Given the description of an element on the screen output the (x, y) to click on. 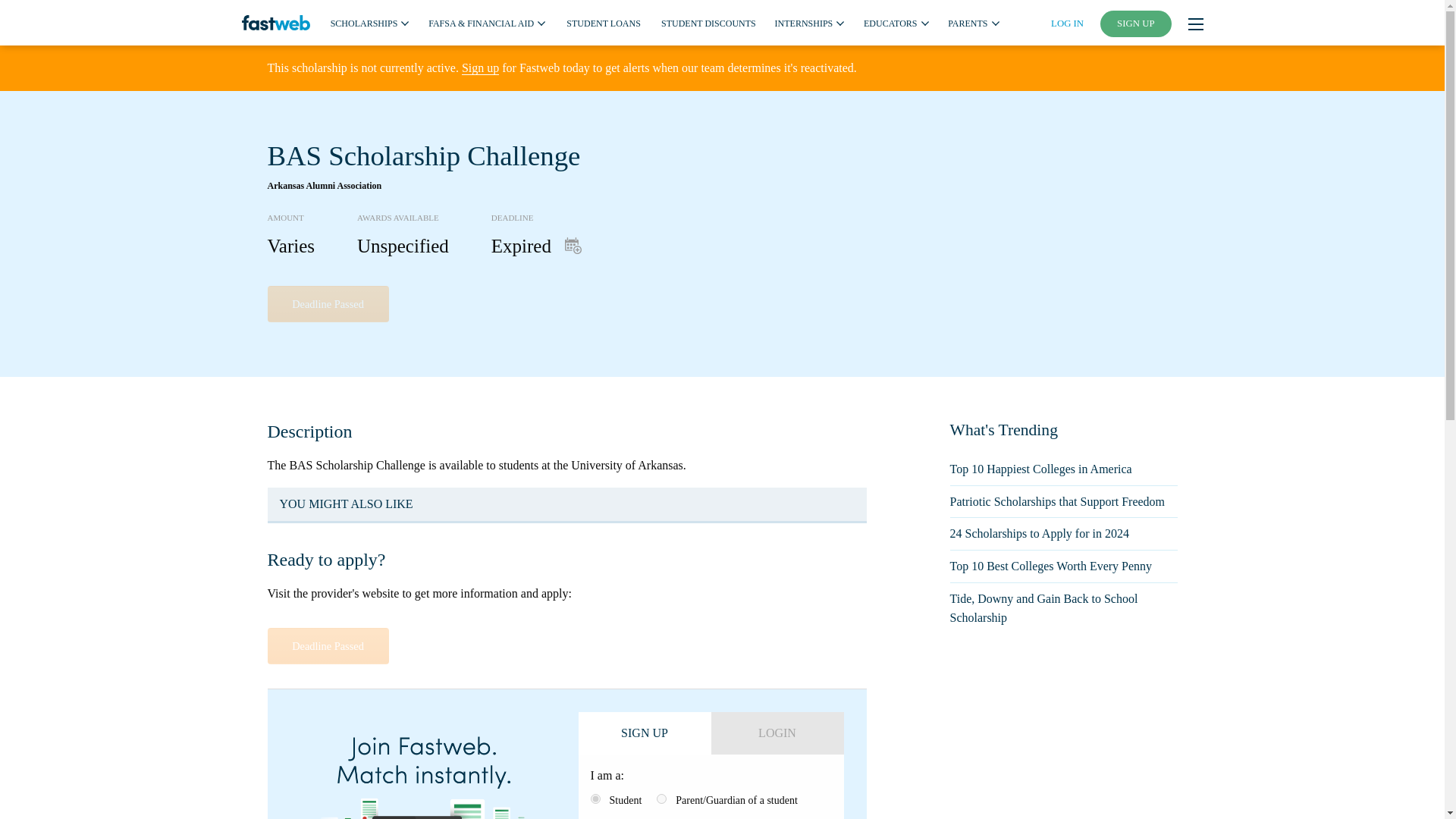
1 (594, 798)
STUDENT LOANS (603, 22)
2 (661, 798)
STUDENT DISCOUNTS (708, 22)
SIGN UP (1136, 23)
LOG IN (1067, 23)
